Given the description of an element on the screen output the (x, y) to click on. 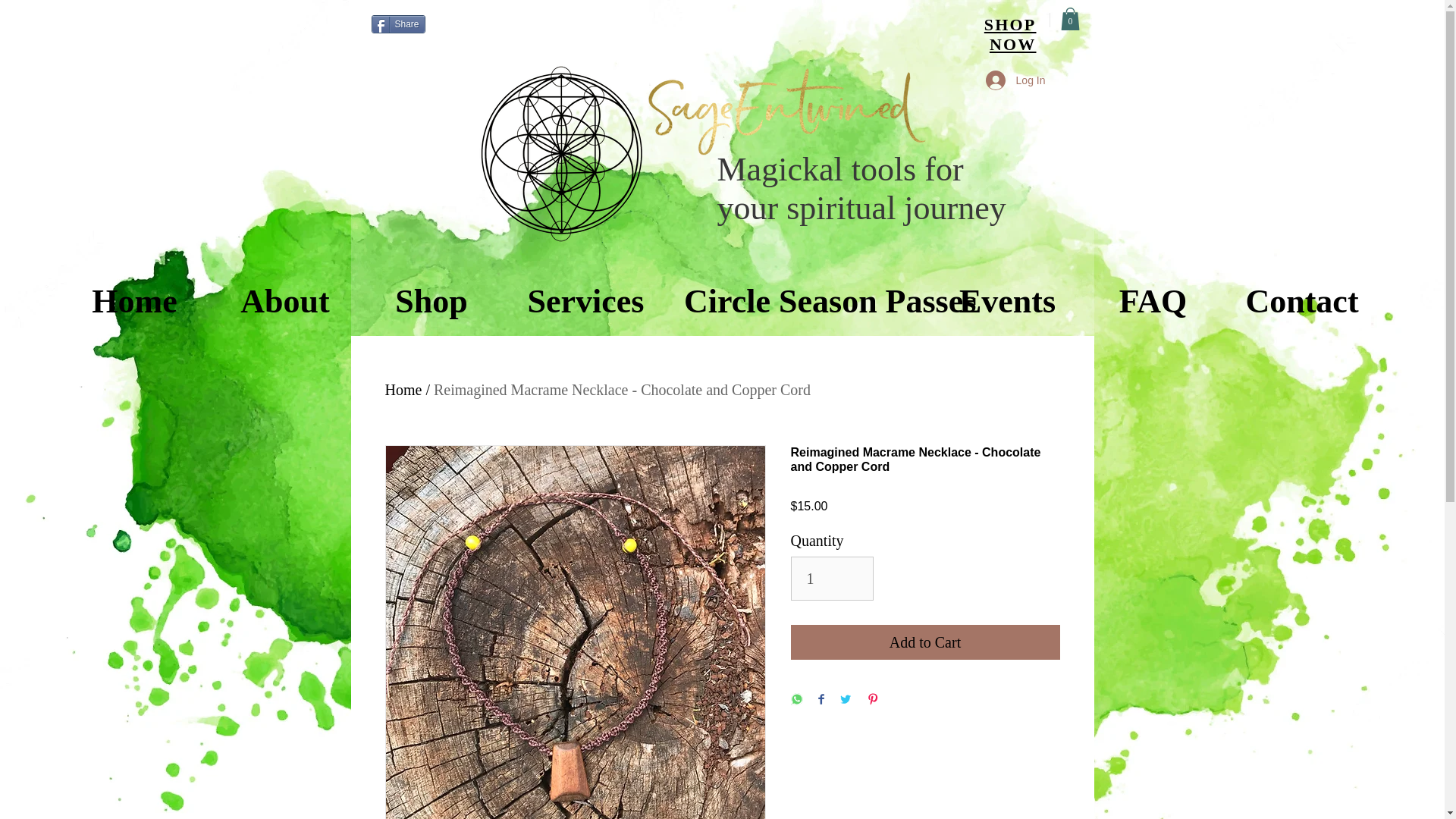
1 (831, 578)
Site Search (473, 28)
Share (398, 24)
Shop (430, 294)
Services (584, 294)
SHOP NOW (1010, 34)
FAQ (1153, 294)
Share (398, 24)
Home (134, 294)
Events (1007, 294)
About (284, 294)
Log In (1016, 80)
0 (1068, 18)
Circle Season Passes (798, 294)
0 (1068, 18)
